Given the description of an element on the screen output the (x, y) to click on. 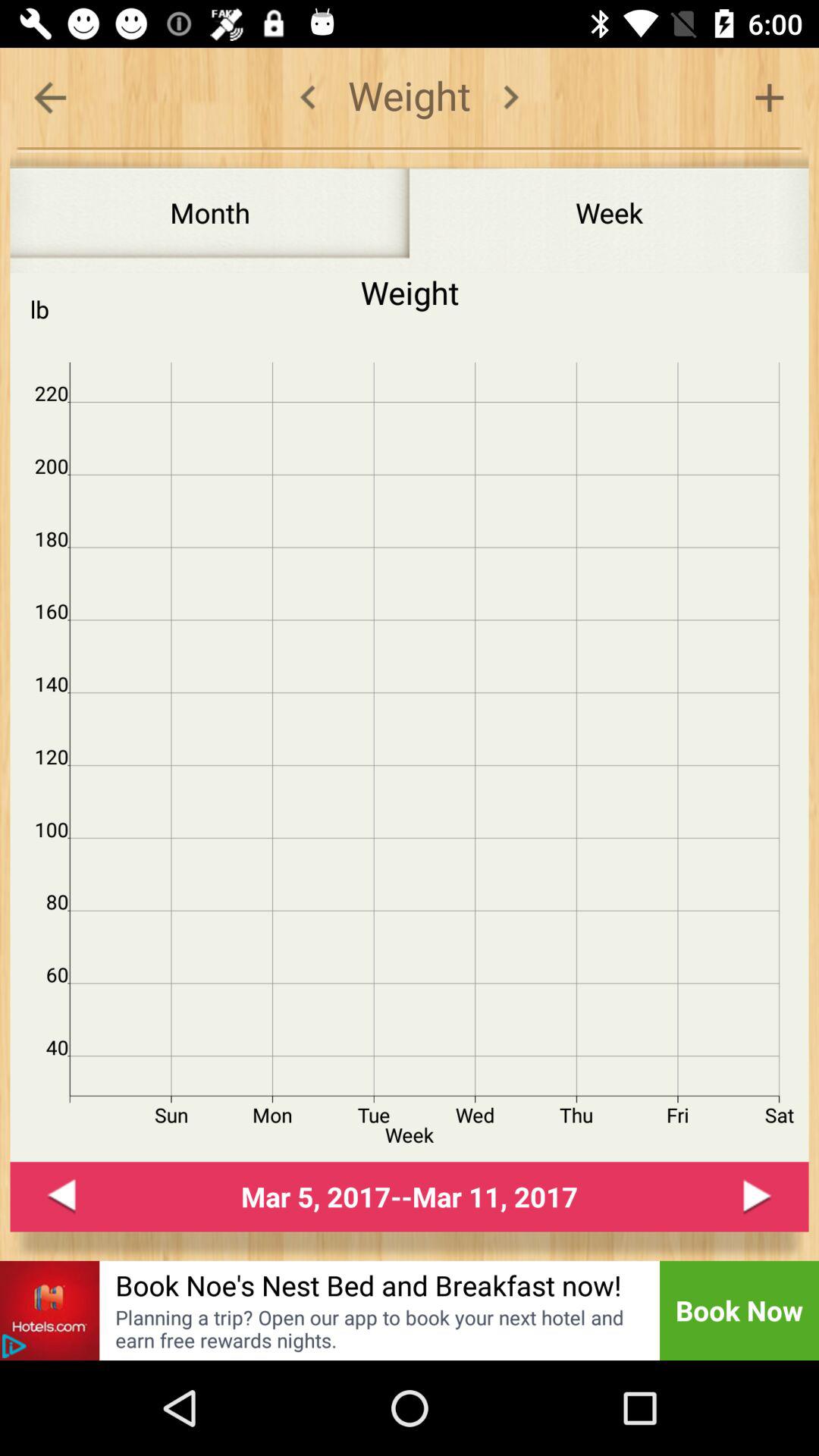
increase weight selection (769, 97)
